Given the description of an element on the screen output the (x, y) to click on. 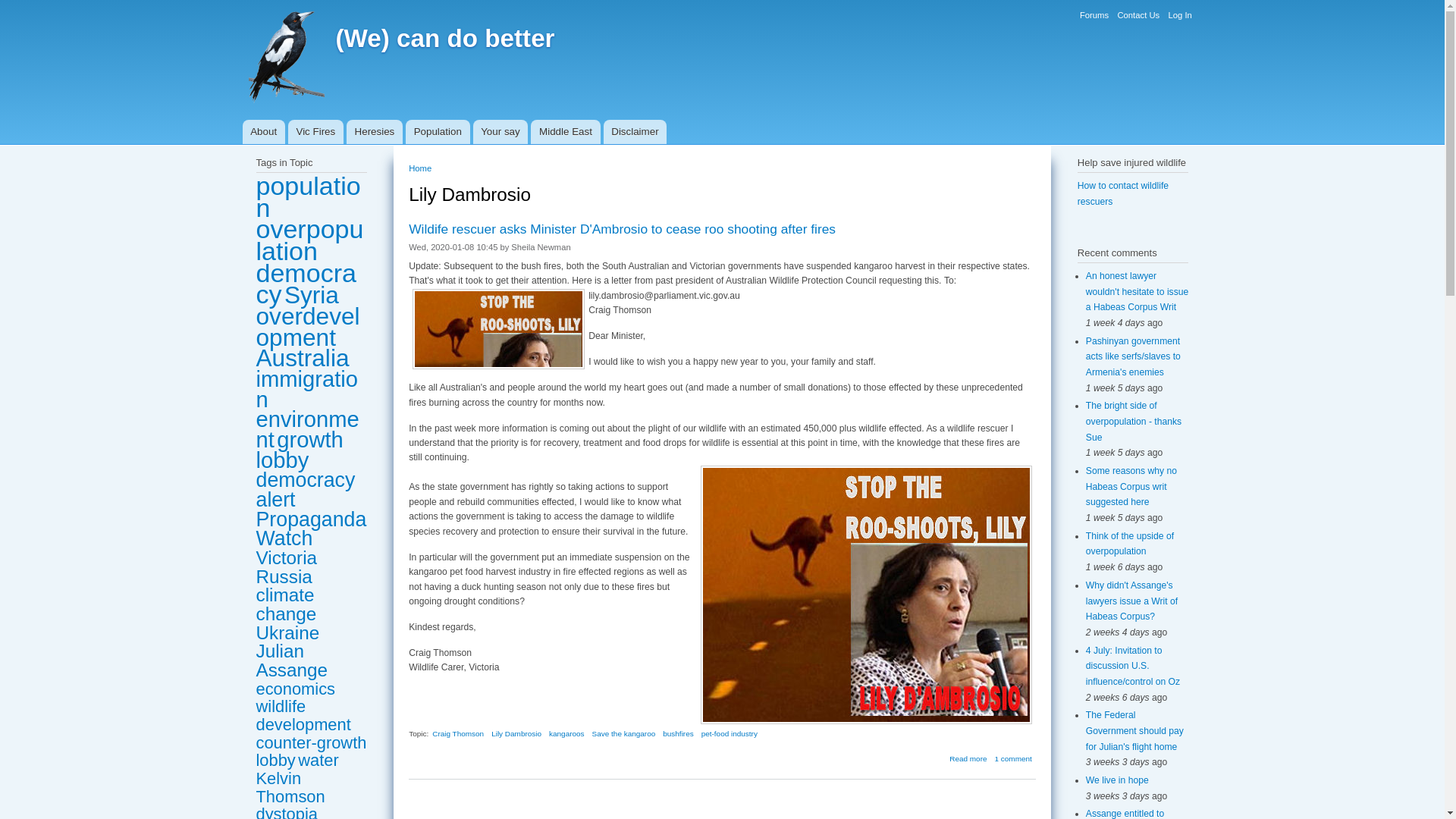
1 comment (1013, 758)
Disclaimer (635, 131)
Propaganda Watch (311, 528)
Ukraine (288, 632)
Julian Assange (292, 660)
Home (444, 38)
About candobetter.org, including "What you can do" (264, 131)
Log In (1179, 14)
climate change (286, 604)
Vic Fires (315, 131)
Home (419, 167)
population (308, 196)
Victoria (286, 557)
kangaroos (566, 733)
